Given the description of an element on the screen output the (x, y) to click on. 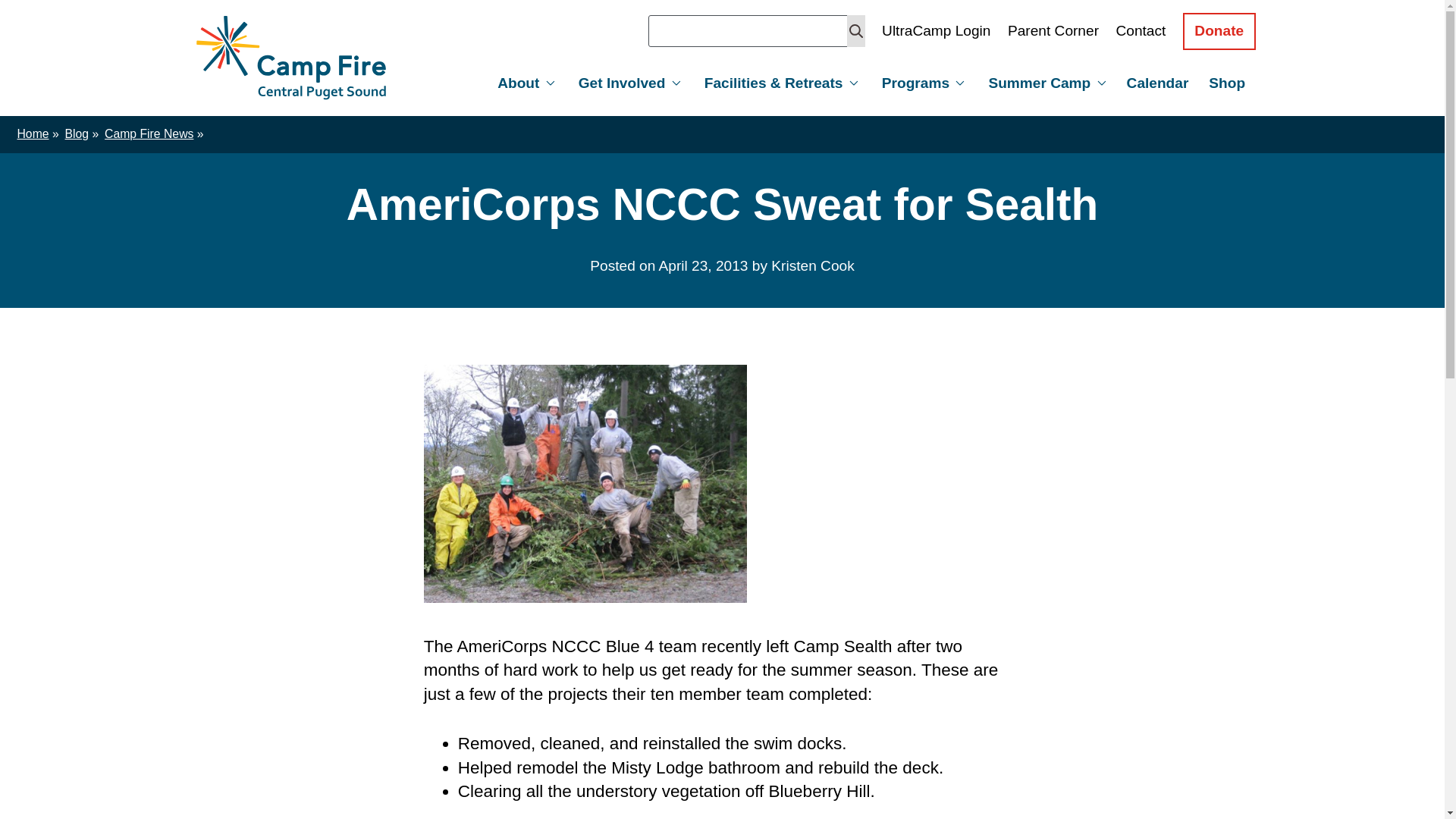
Programs (921, 82)
Donate (1218, 31)
Contact (1141, 30)
Search (855, 30)
About (525, 82)
UltraCamp Login (936, 30)
Get Involved (627, 82)
Parent Corner (1053, 30)
Camp Fire Central Puget Sound (291, 58)
